Given the description of an element on the screen output the (x, y) to click on. 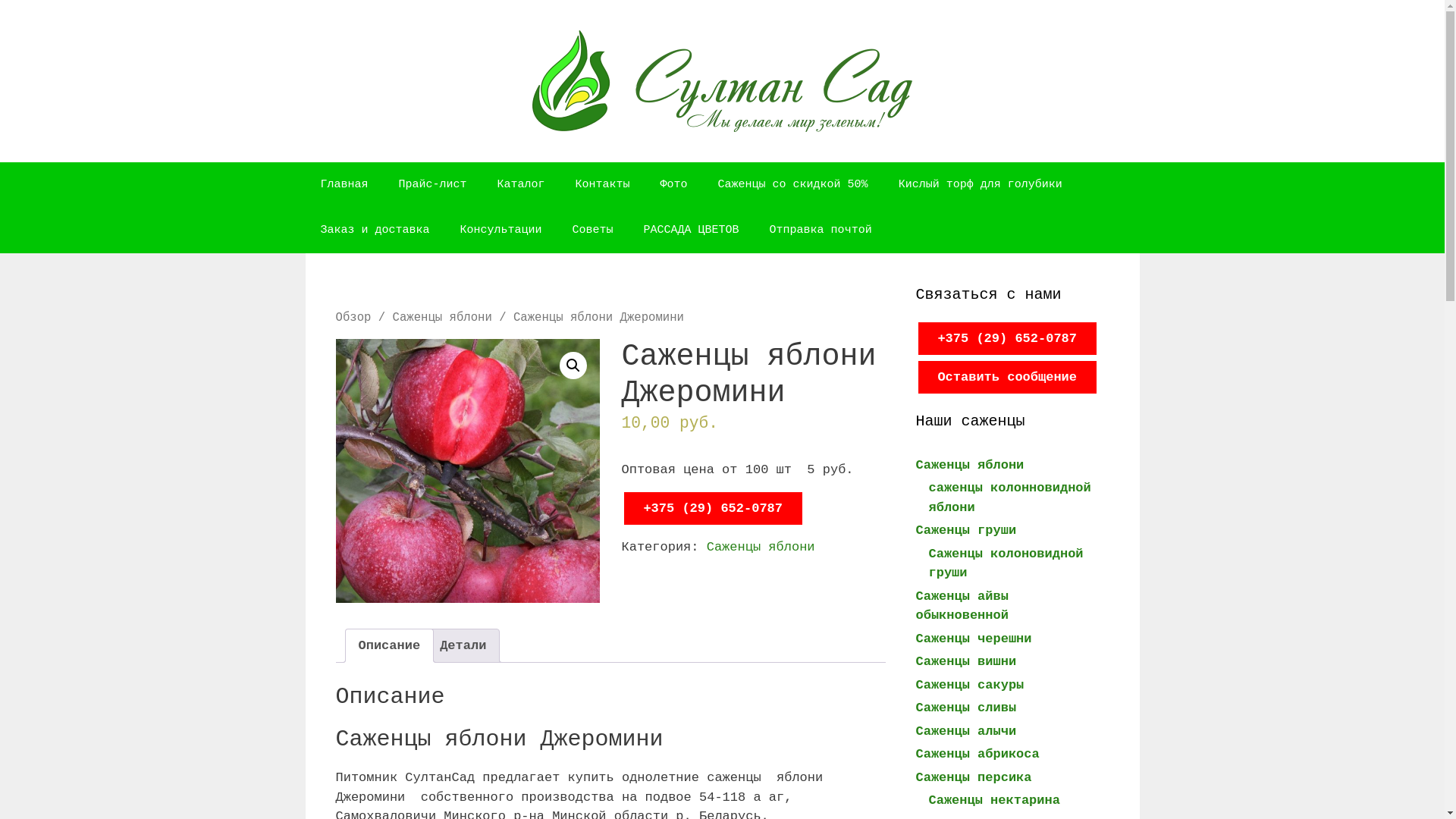
+375 (29) 652-0787 Element type: text (1007, 338)
+375 (29) 652-0787 Element type: text (713, 508)
